Given the description of an element on the screen output the (x, y) to click on. 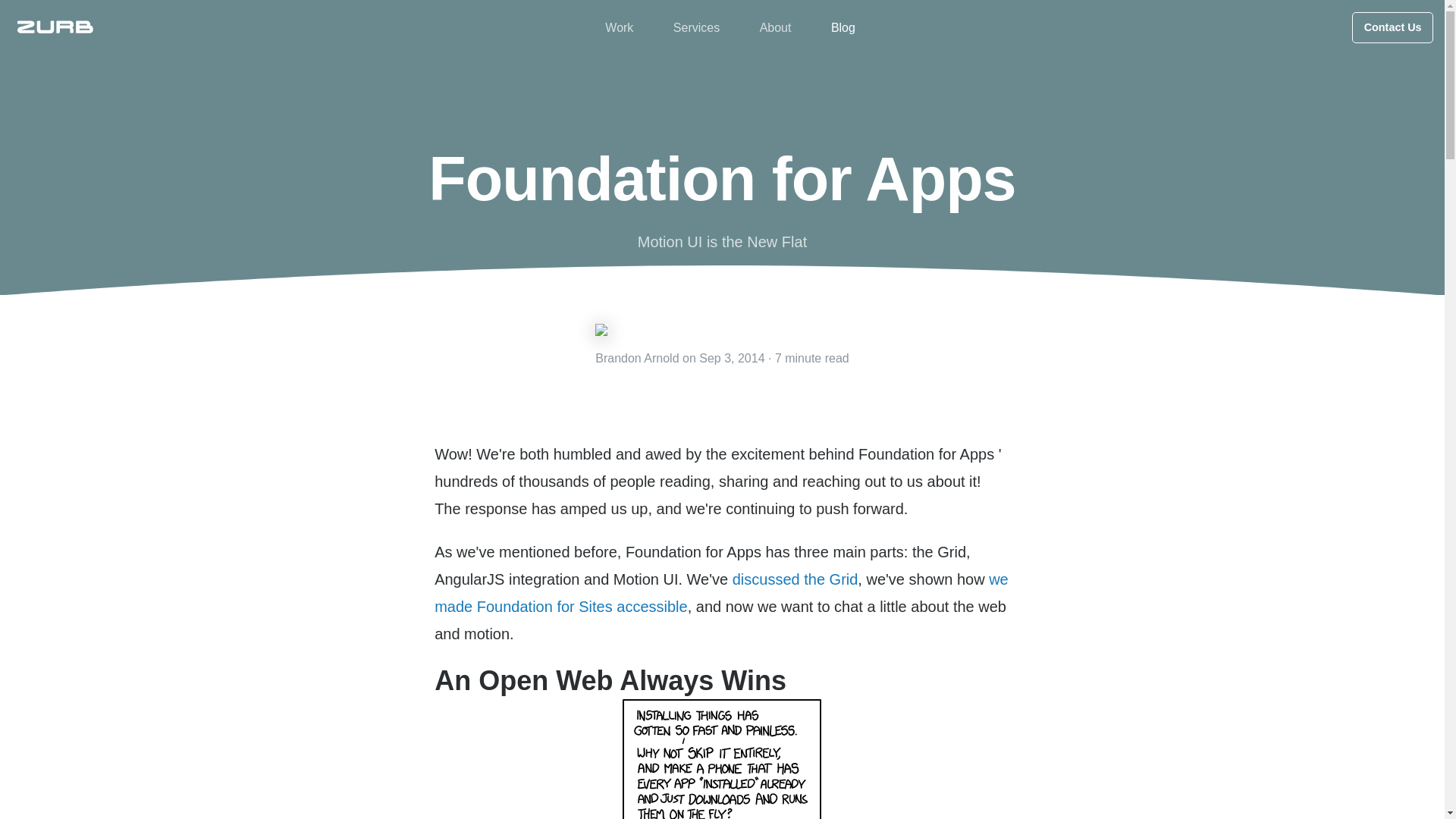
About (776, 27)
Services (695, 27)
Work (619, 27)
Blog (843, 27)
discussed the Grid (795, 579)
we made Foundation for Sites accessible (721, 592)
Contact Us (1392, 27)
